Given the description of an element on the screen output the (x, y) to click on. 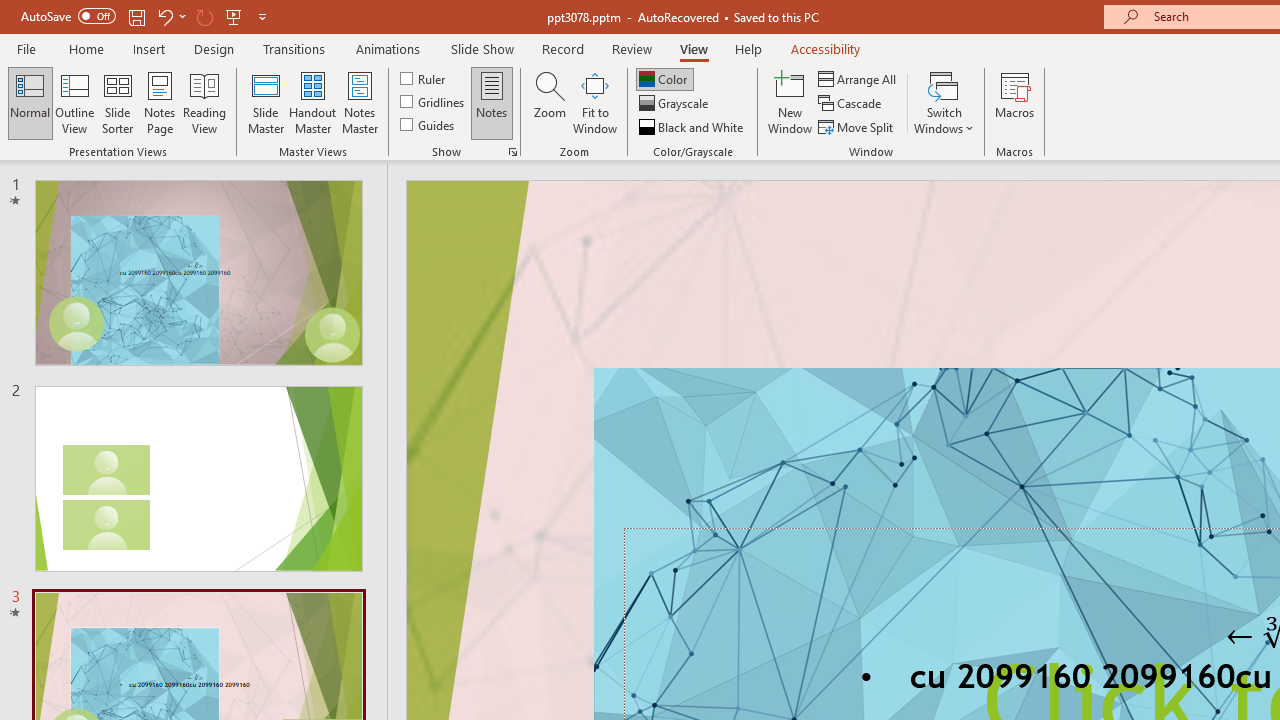
Black and White (693, 126)
Ruler (423, 78)
Zoom... (549, 102)
Notes (492, 102)
Move Split (857, 126)
Cascade (851, 103)
Macros (1014, 102)
Grid Settings... (512, 151)
